Given the description of an element on the screen output the (x, y) to click on. 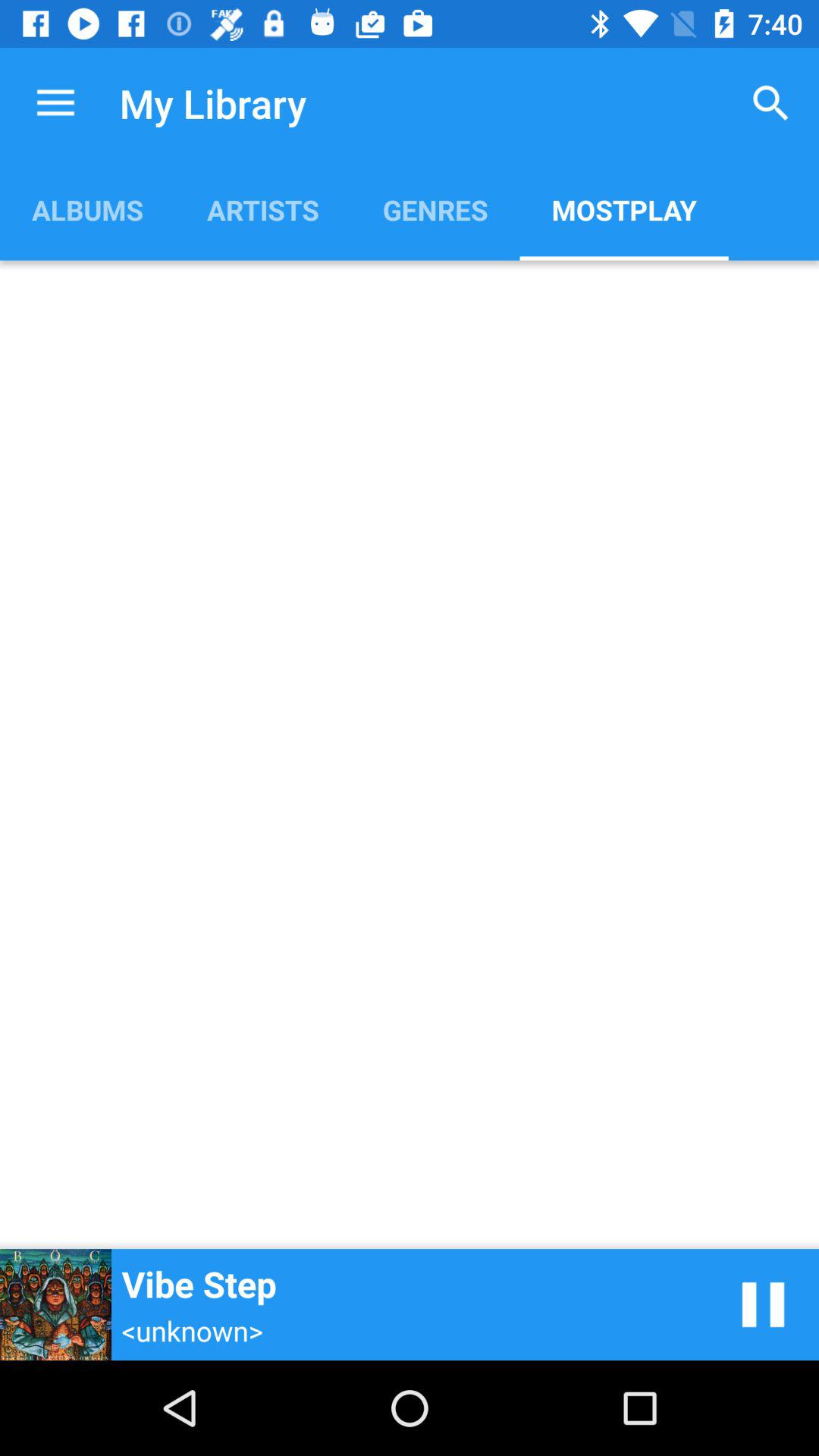
click app next to the my library icon (55, 103)
